Given the description of an element on the screen output the (x, y) to click on. 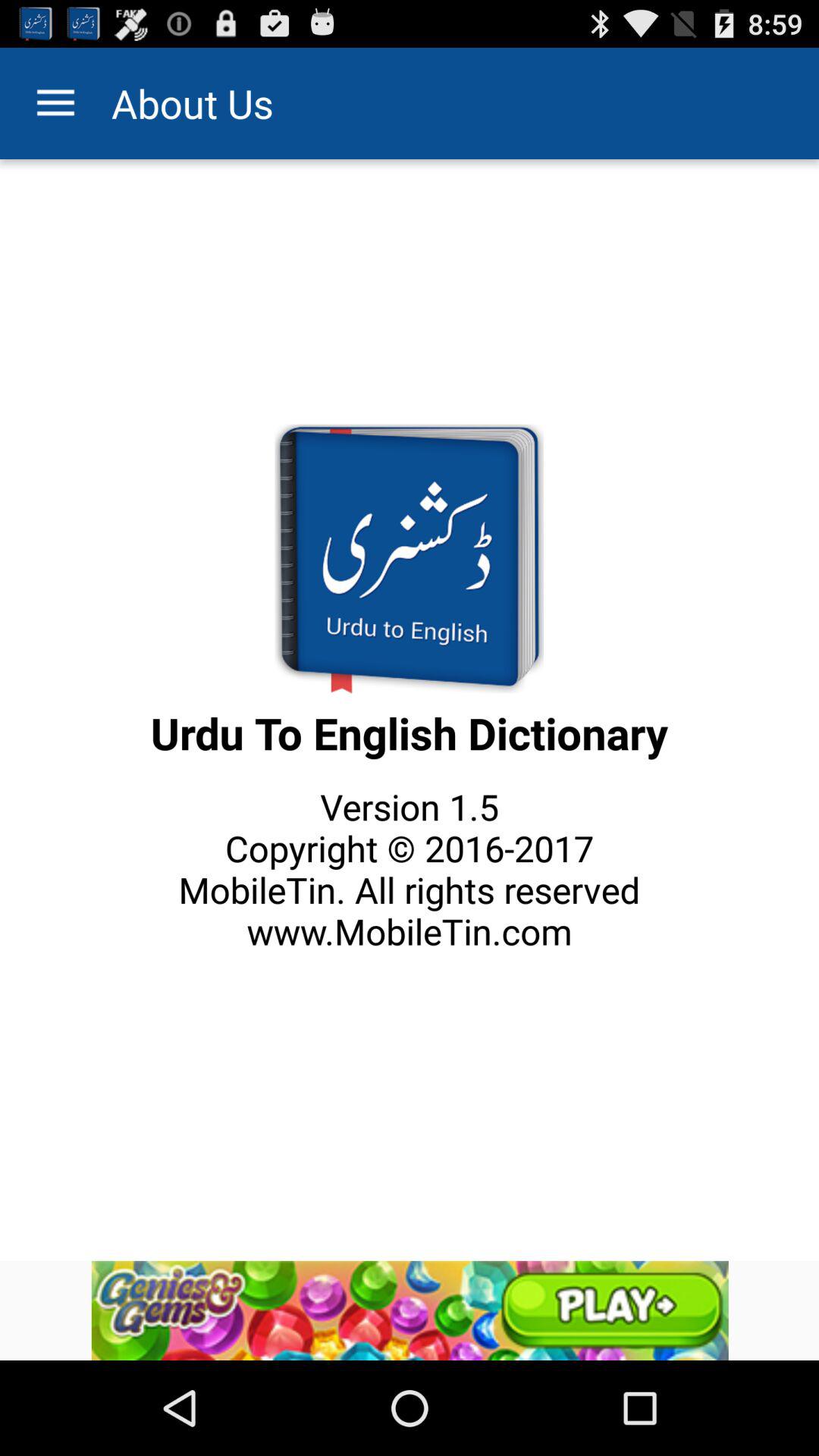
open/install sponsored app (409, 1310)
